Given the description of an element on the screen output the (x, y) to click on. 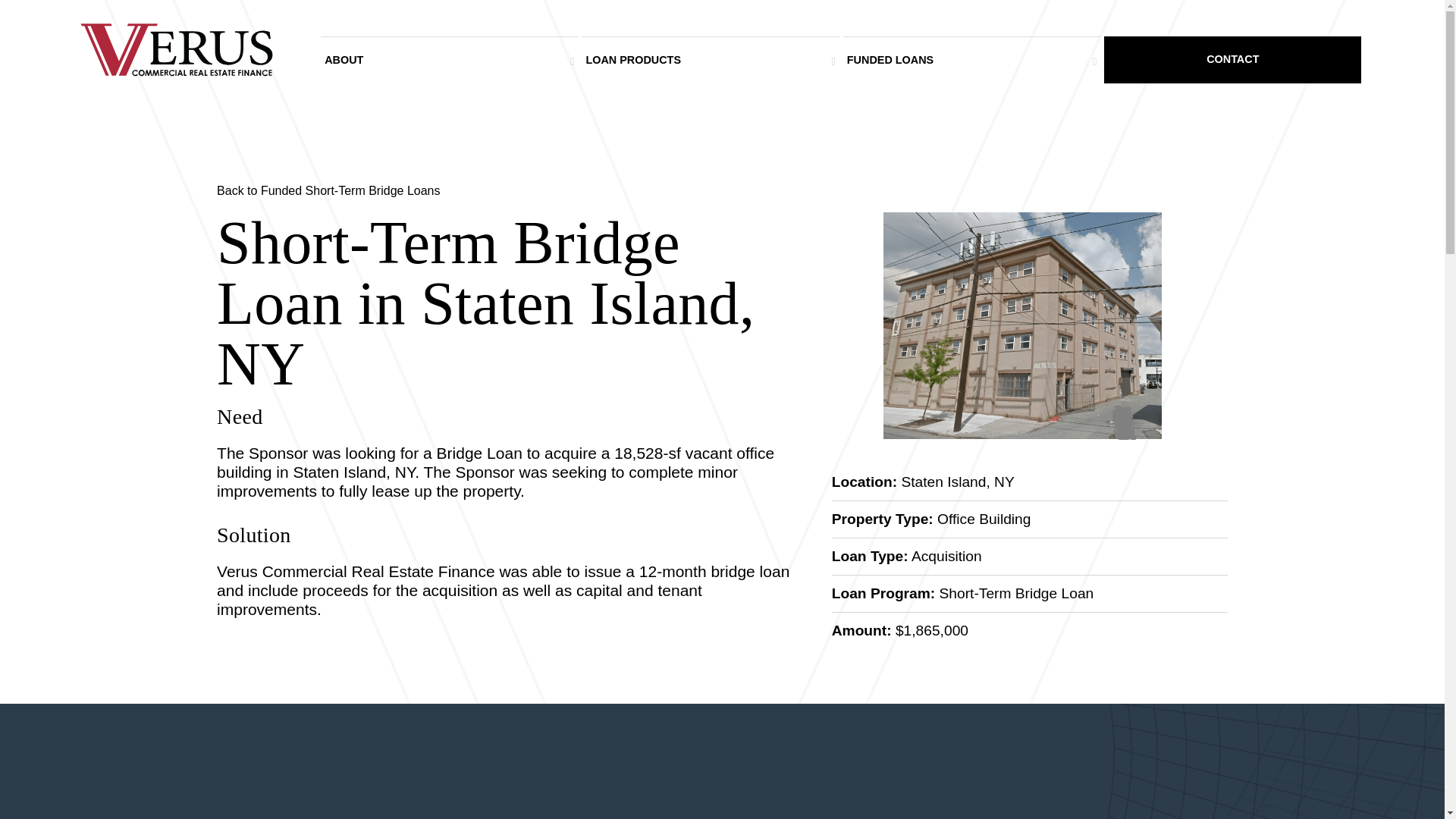
Back to Funded Short-Term Bridge Loans (722, 190)
CONTACT (1232, 59)
LOAN PRODUCTS (709, 60)
FUNDED LOANS (971, 60)
ABOUT (449, 60)
